Given the description of an element on the screen output the (x, y) to click on. 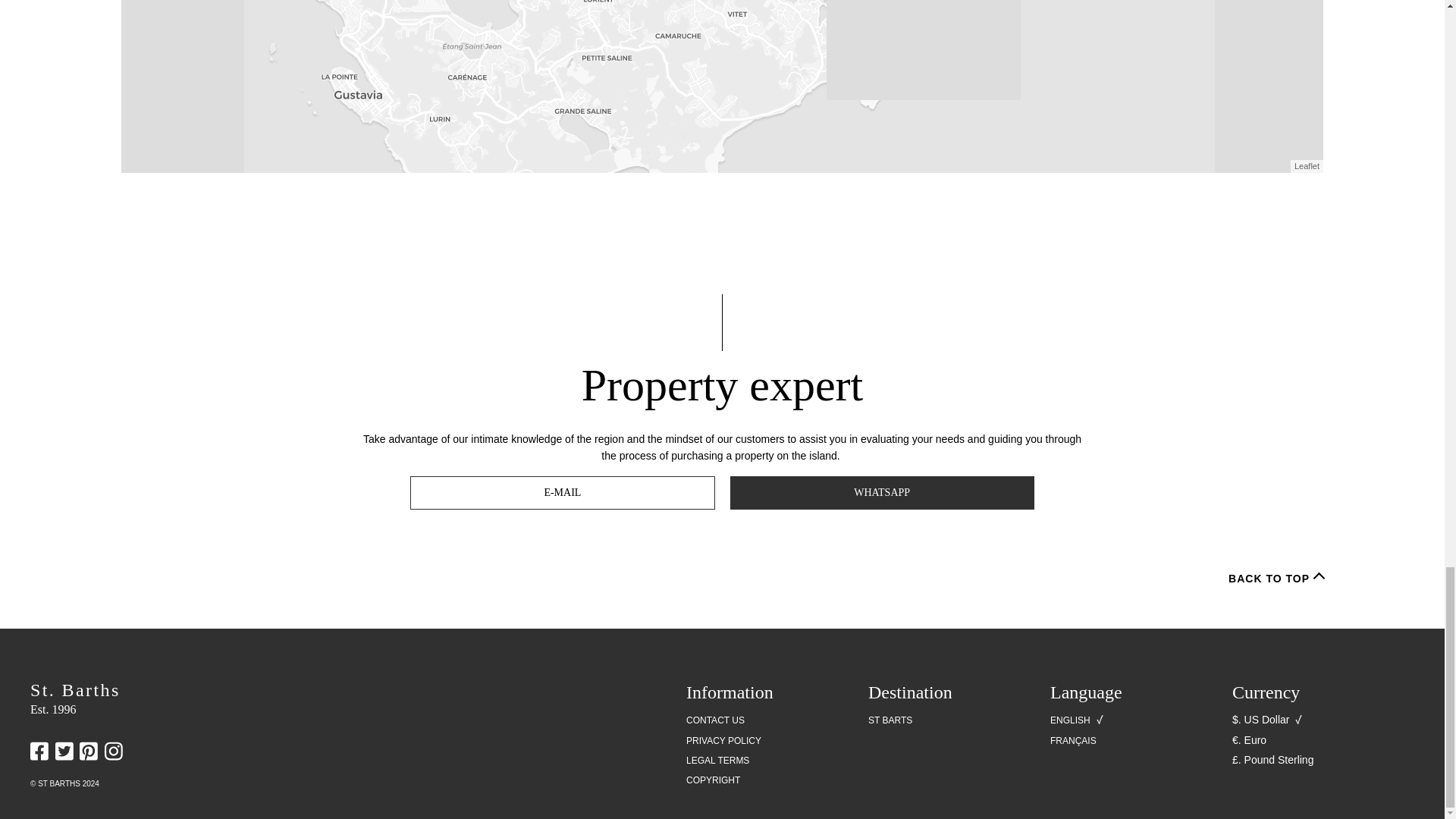
ST BARTS (889, 720)
LEGAL TERMS (717, 760)
CONTACT US (714, 720)
COPYRIGHT (712, 780)
WHATSAPP (881, 492)
ENGLISH (1069, 720)
E-MAIL (562, 492)
A JS library for interactive maps (1306, 165)
PRIVACY POLICY (723, 740)
Leaflet (1306, 165)
